Given the description of an element on the screen output the (x, y) to click on. 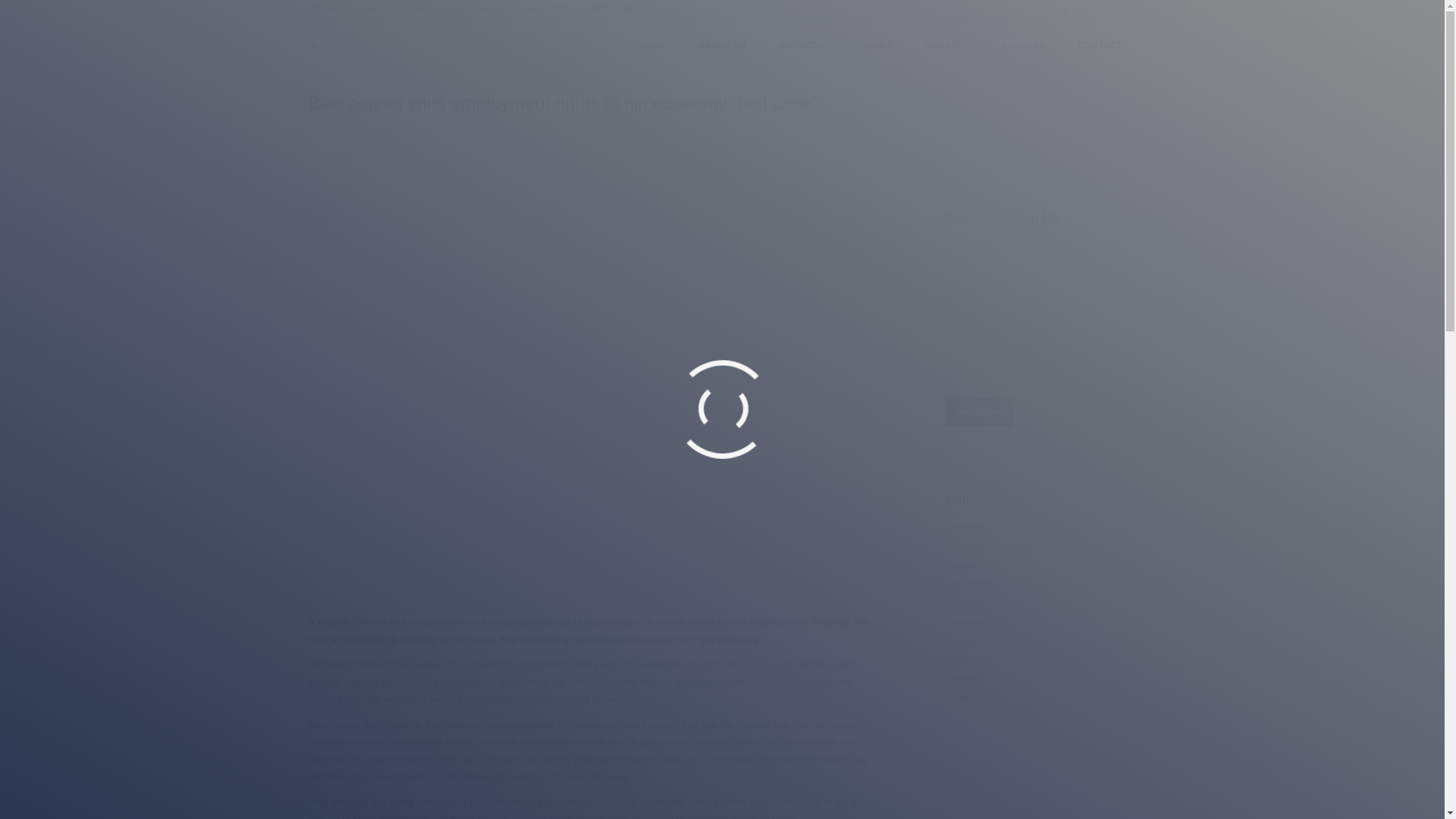
HOME (652, 46)
CAREERS (1023, 46)
Employment (346, 153)
ABOUT US (721, 46)
PEOPLE (875, 46)
UPDATES (946, 46)
Subscribe (978, 411)
Employment (1116, 103)
CONTACT (1099, 46)
Home (1073, 103)
SERVICES (800, 46)
